Given the description of an element on the screen output the (x, y) to click on. 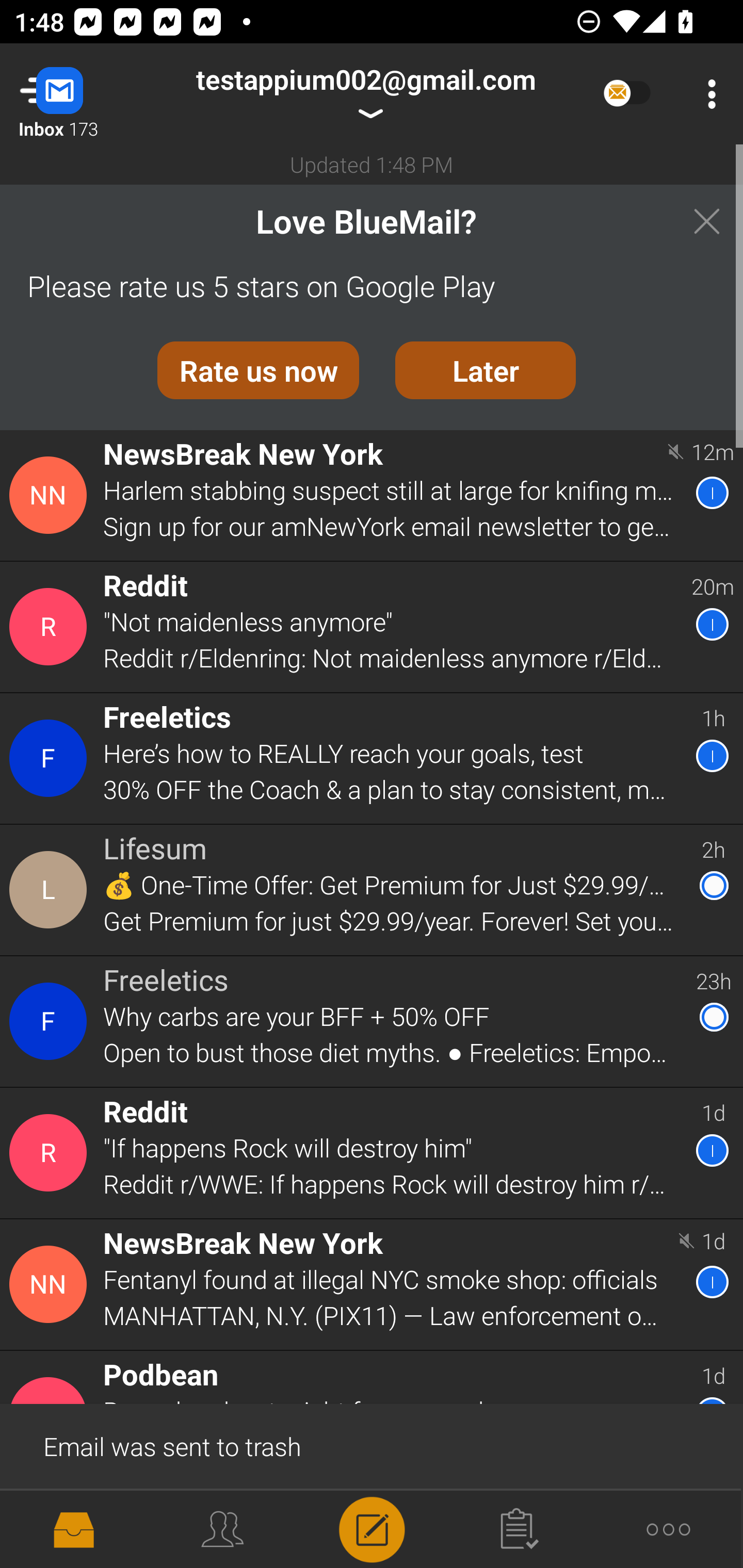
Navigate up (81, 93)
testappium002@gmail.com (365, 93)
More Options (706, 93)
Updated 1:48 PM (371, 164)
Rate us now (257, 370)
Later (485, 370)
Contact Details (50, 495)
Contact Details (50, 626)
Contact Details (50, 758)
Contact Details (50, 889)
Contact Details (50, 1021)
Contact Details (50, 1153)
Contact Details (50, 1284)
Email was sent to trash (371, 1445)
Compose (371, 1528)
